Given the description of an element on the screen output the (x, y) to click on. 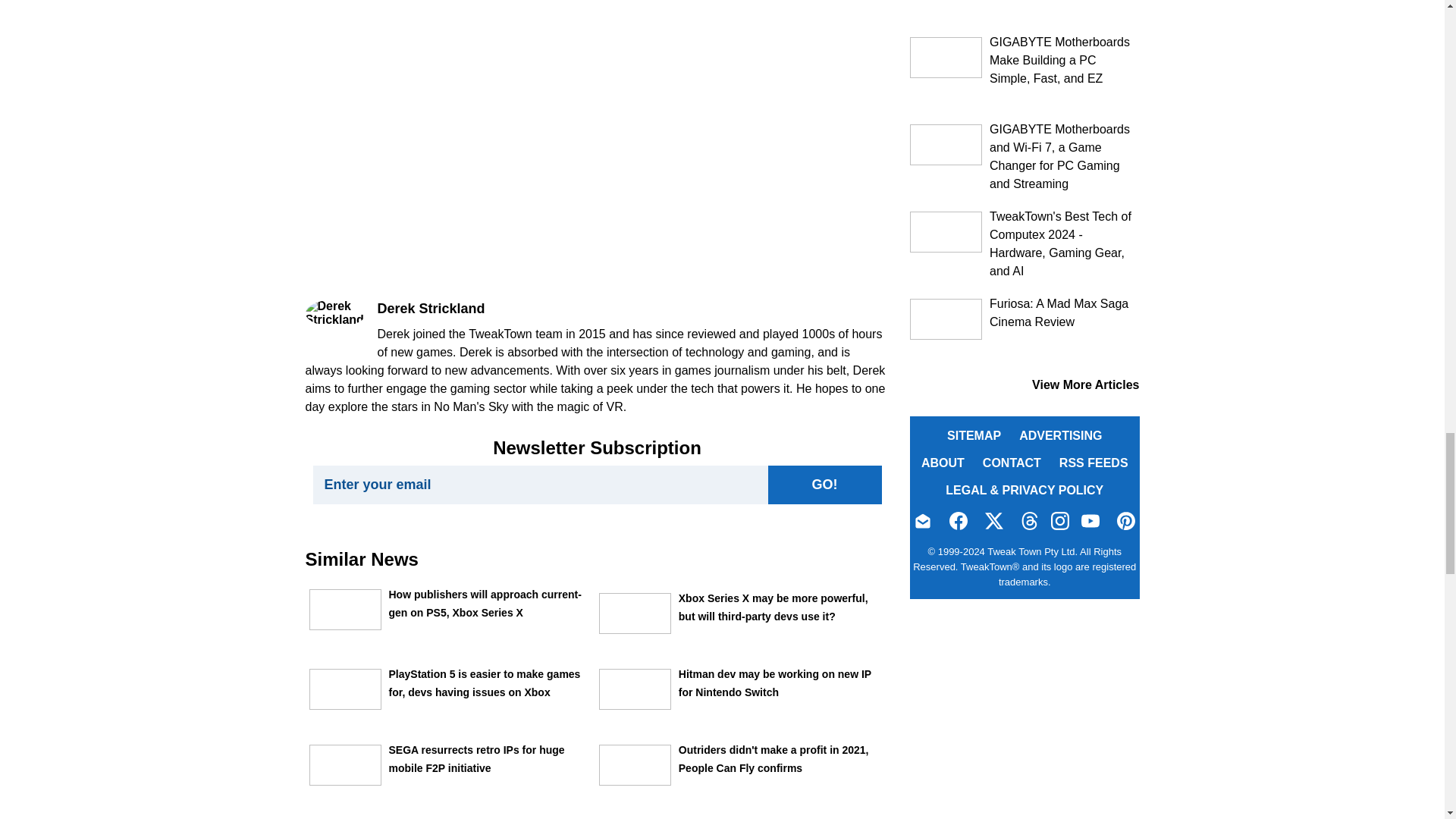
GO! (823, 485)
